Given the description of an element on the screen output the (x, y) to click on. 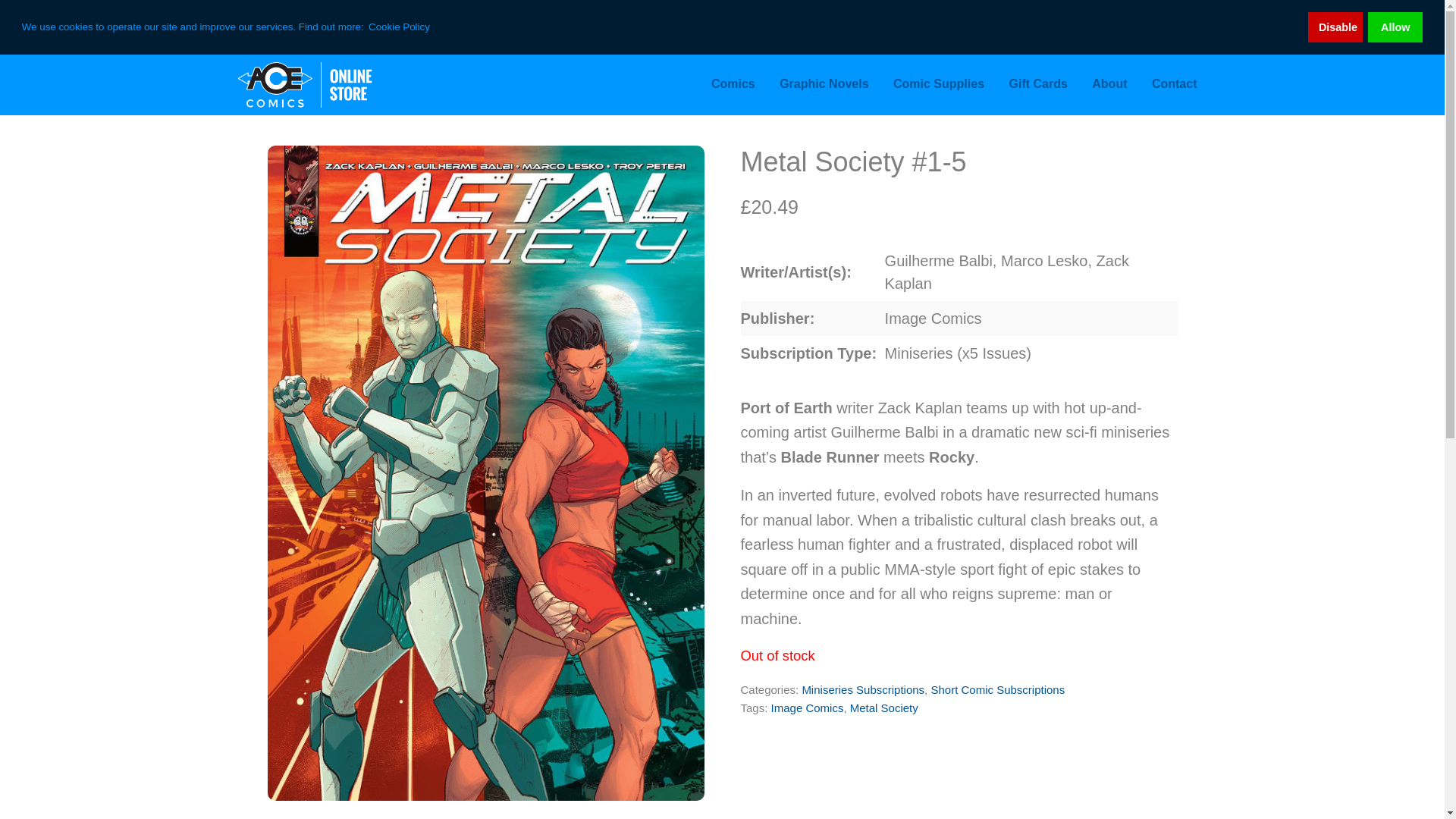
Allow (1395, 27)
Contact (1174, 84)
Gift Cards (1037, 84)
Graphic Novels (823, 84)
Short Comic Subscriptions (997, 689)
Comic Supplies (938, 84)
Disable (1334, 27)
About (1109, 84)
Ace Comics (334, 84)
Graphic Novels (823, 84)
Miniseries Subscriptions (863, 689)
Comics (732, 84)
Contact Us (1174, 84)
About ACE Comics (1109, 84)
